Given the description of an element on the screen output the (x, y) to click on. 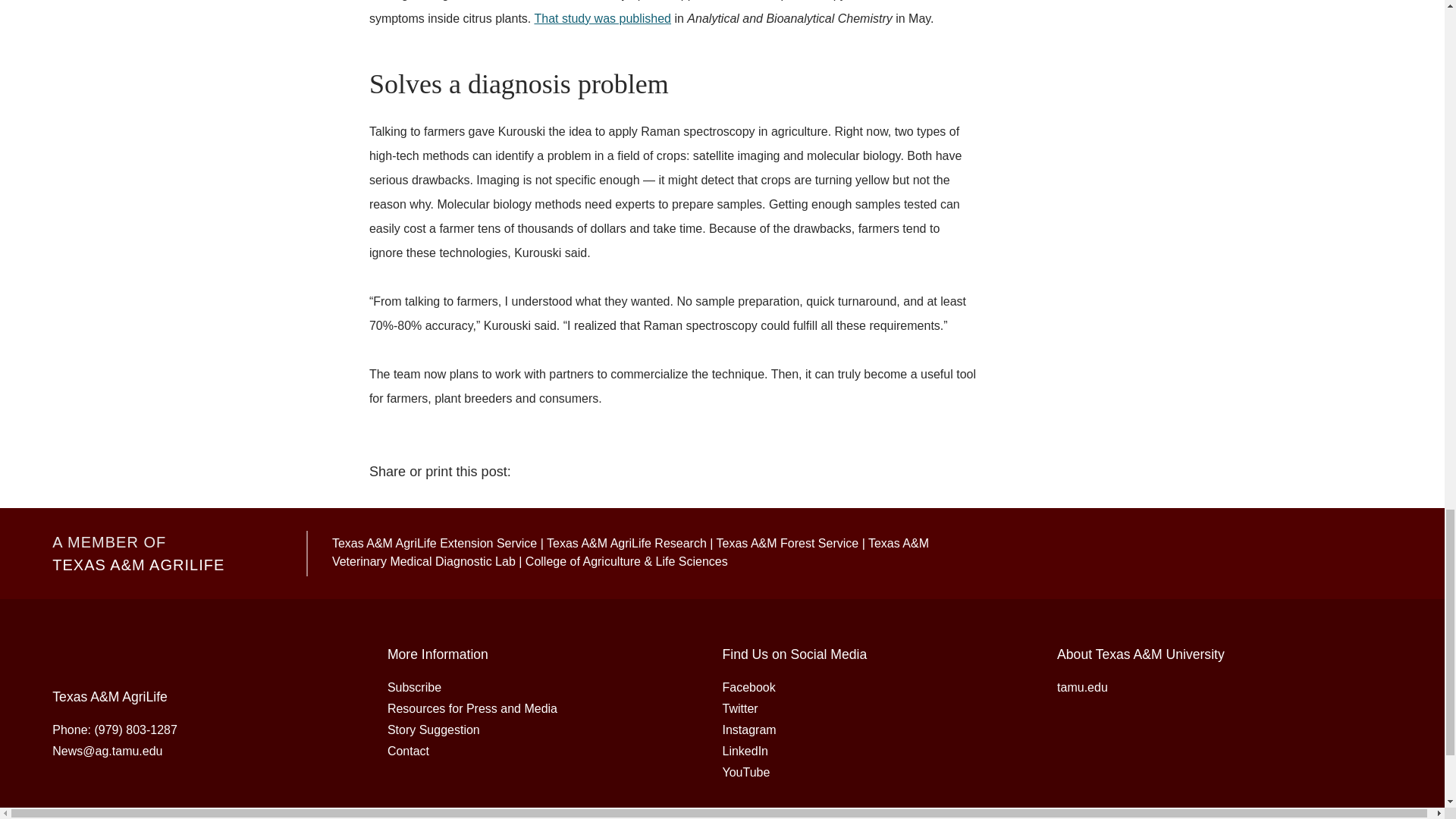
Resources for Press and Media (472, 707)
Subscribe (414, 686)
That study was published (602, 18)
Contact (408, 750)
Story Suggestion (433, 729)
